Given the description of an element on the screen output the (x, y) to click on. 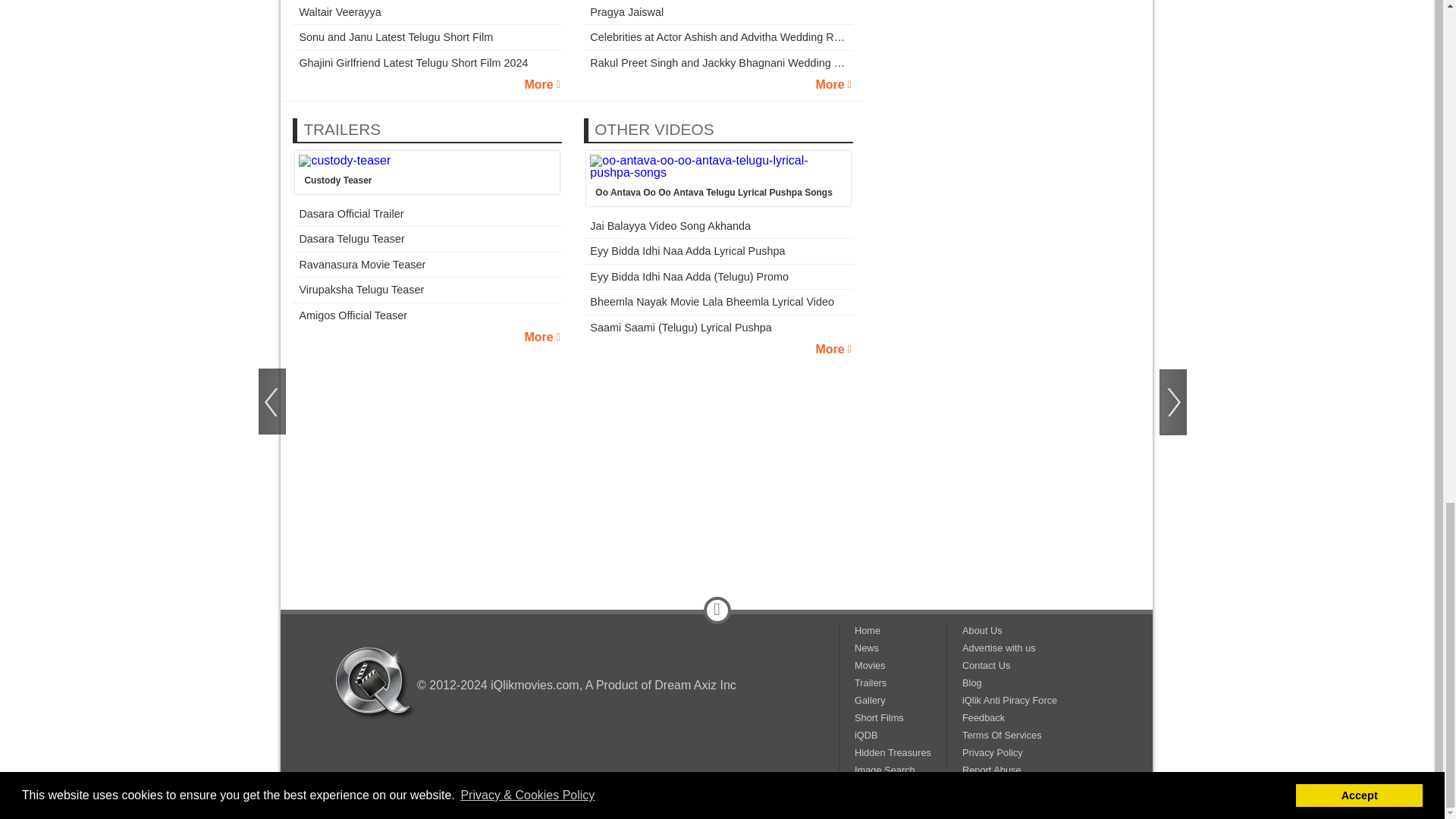
Logo - Home (374, 682)
Advertisement (716, 453)
